Given the description of an element on the screen output the (x, y) to click on. 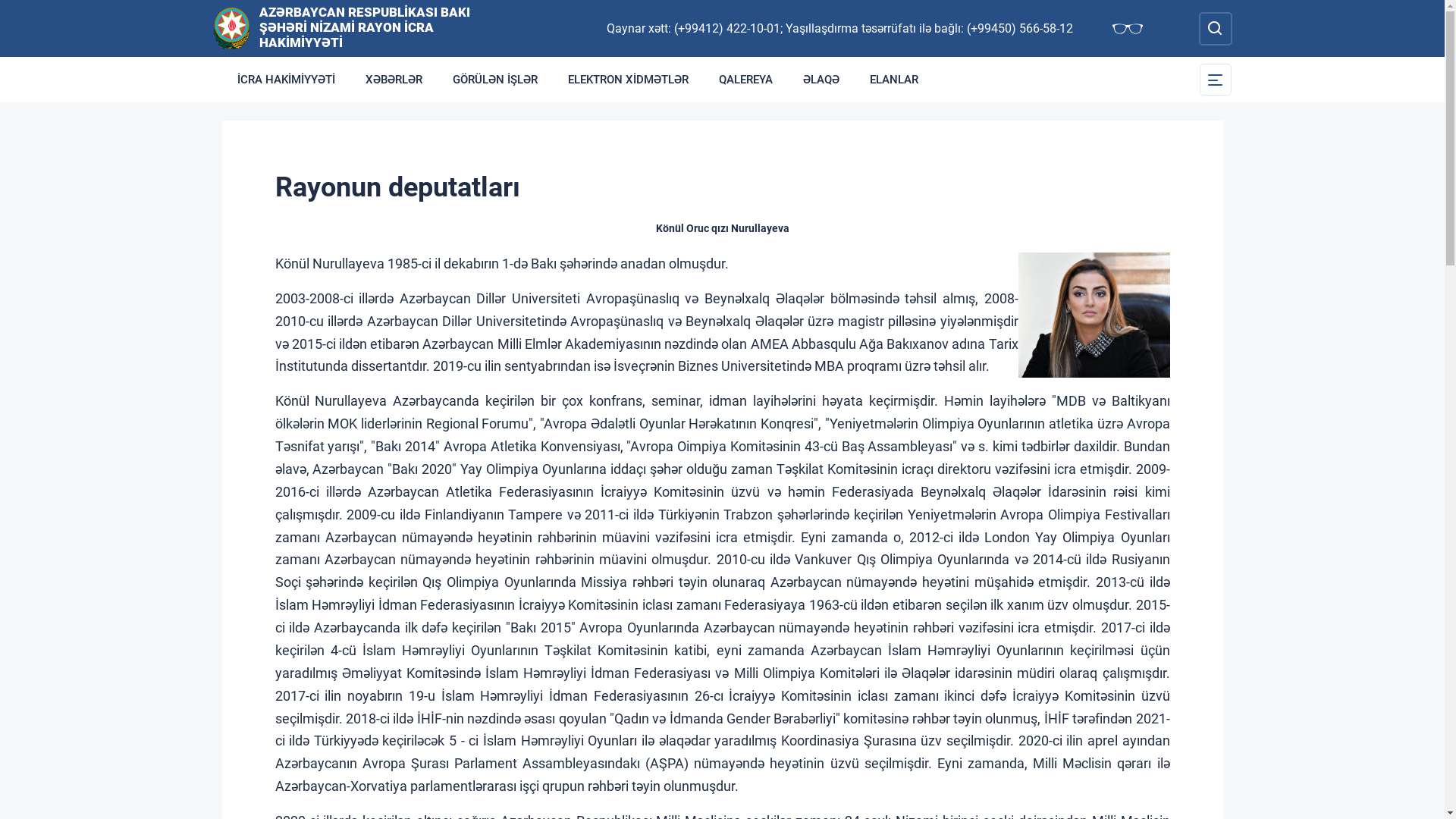
QALEREYA Element type: text (745, 79)
ELANLAR Element type: text (892, 79)
